Given the description of an element on the screen output the (x, y) to click on. 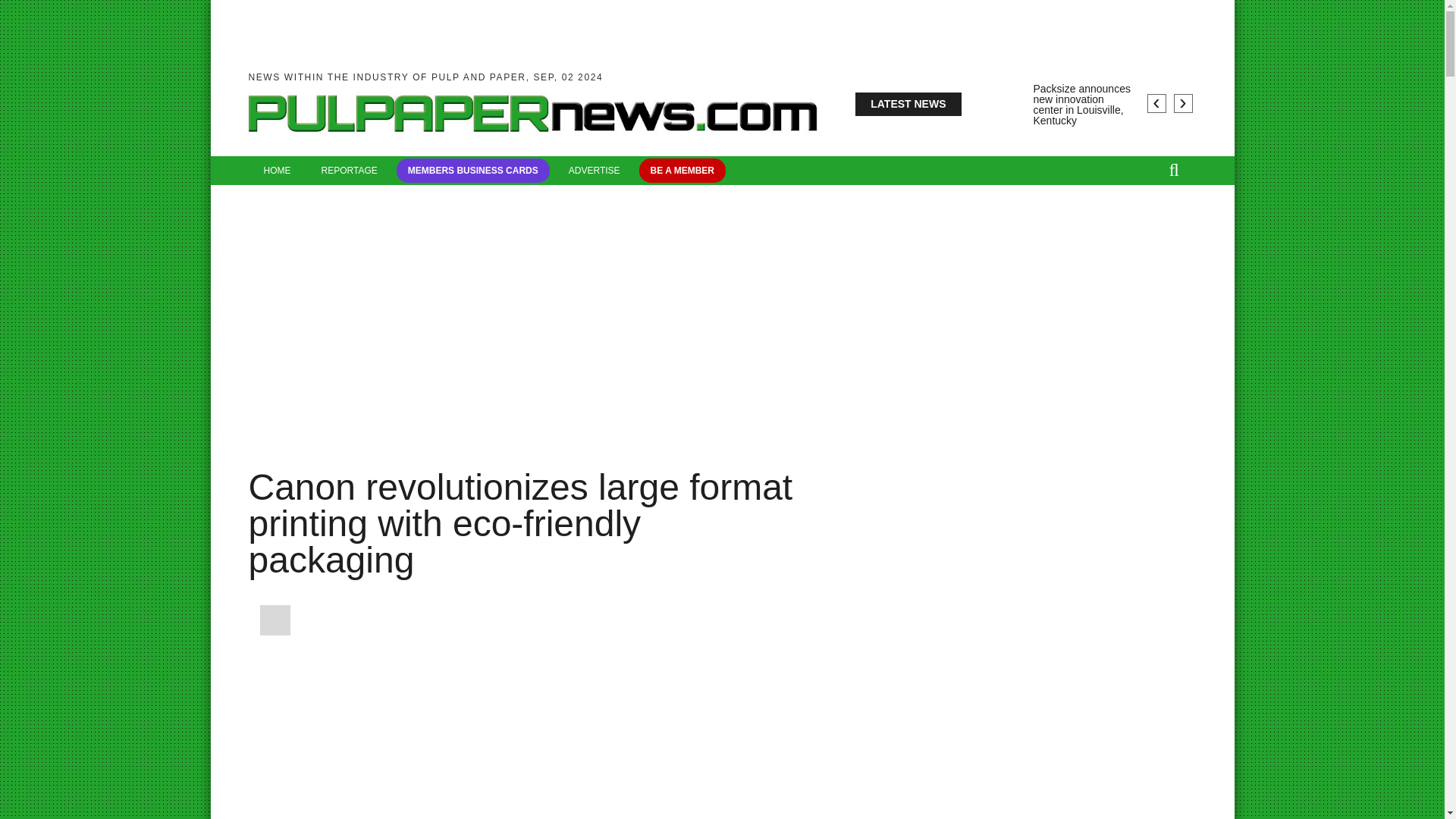
3rd party ad content (721, 438)
3rd party ad content (536, 438)
Home (532, 145)
3rd party ad content (1009, 644)
3rd party ad content (352, 438)
3rd party ad content (1087, 438)
3rd party ad content (445, 438)
HOME (276, 170)
3rd party ad content (996, 438)
MEMBERS BUSINESS CARDS (473, 170)
